Given the description of an element on the screen output the (x, y) to click on. 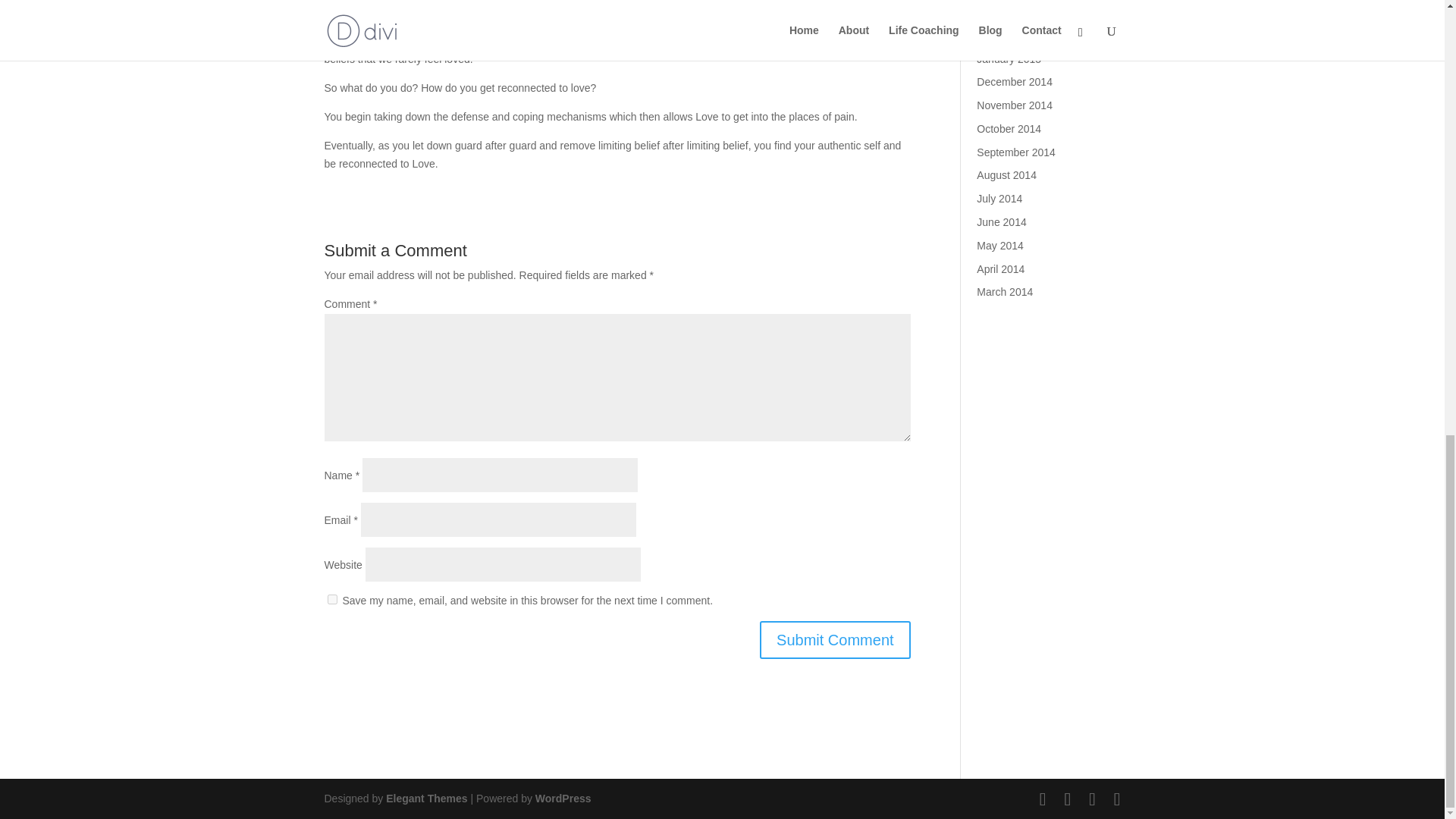
Submit Comment (835, 639)
Submit Comment (835, 639)
yes (332, 599)
Premium WordPress Themes (426, 798)
